Given the description of an element on the screen output the (x, y) to click on. 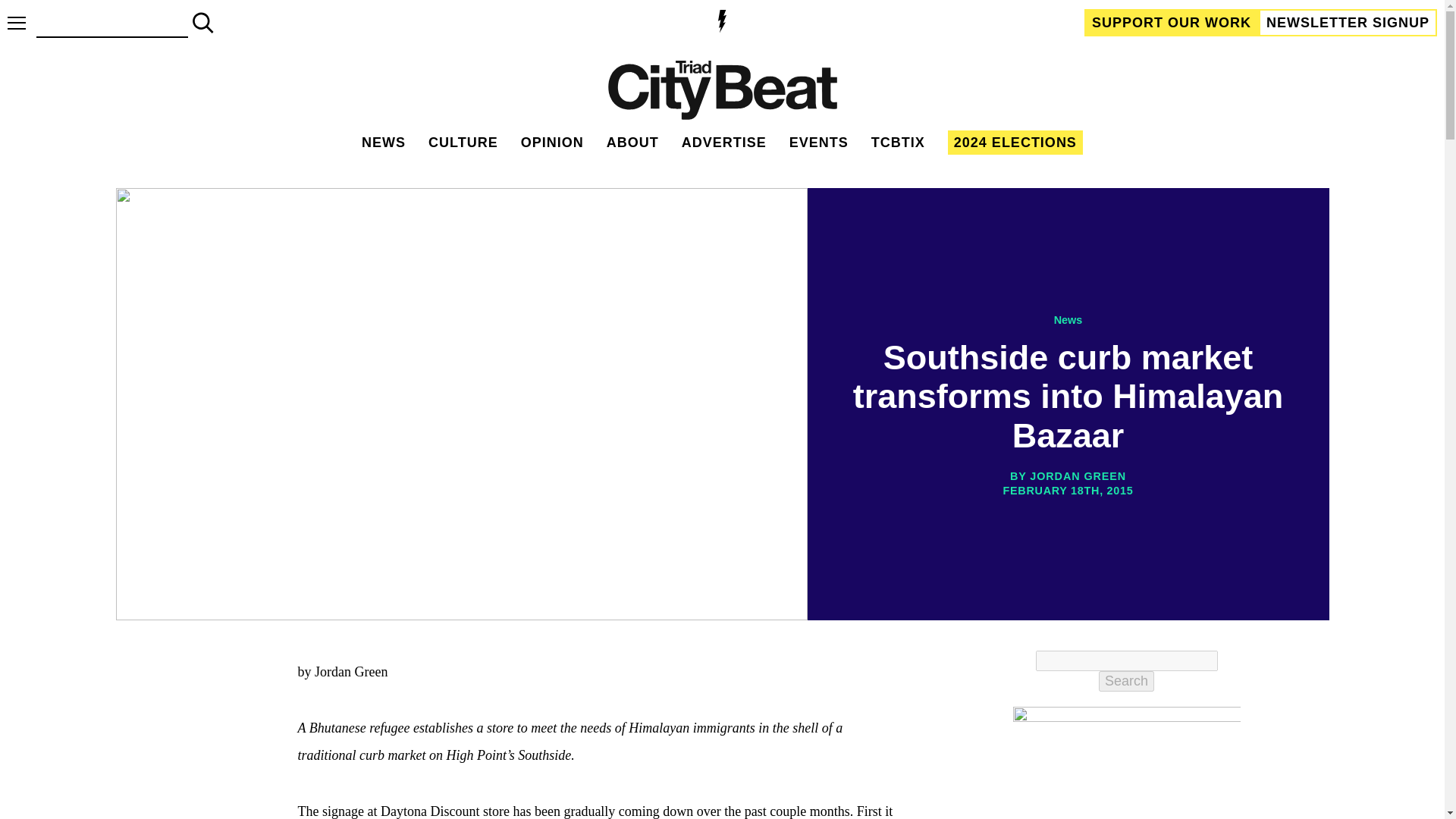
Search (1126, 680)
OPINION (552, 142)
NEWSLETTER SIGNUP (1348, 22)
SUPPORT OUR WORK (1171, 22)
TCBTIX (897, 142)
ABOUT (633, 142)
2024 ELECTIONS (1015, 142)
BY JORDAN GREEN (1067, 475)
Search (1126, 680)
EVENTS (818, 142)
